Given the description of an element on the screen output the (x, y) to click on. 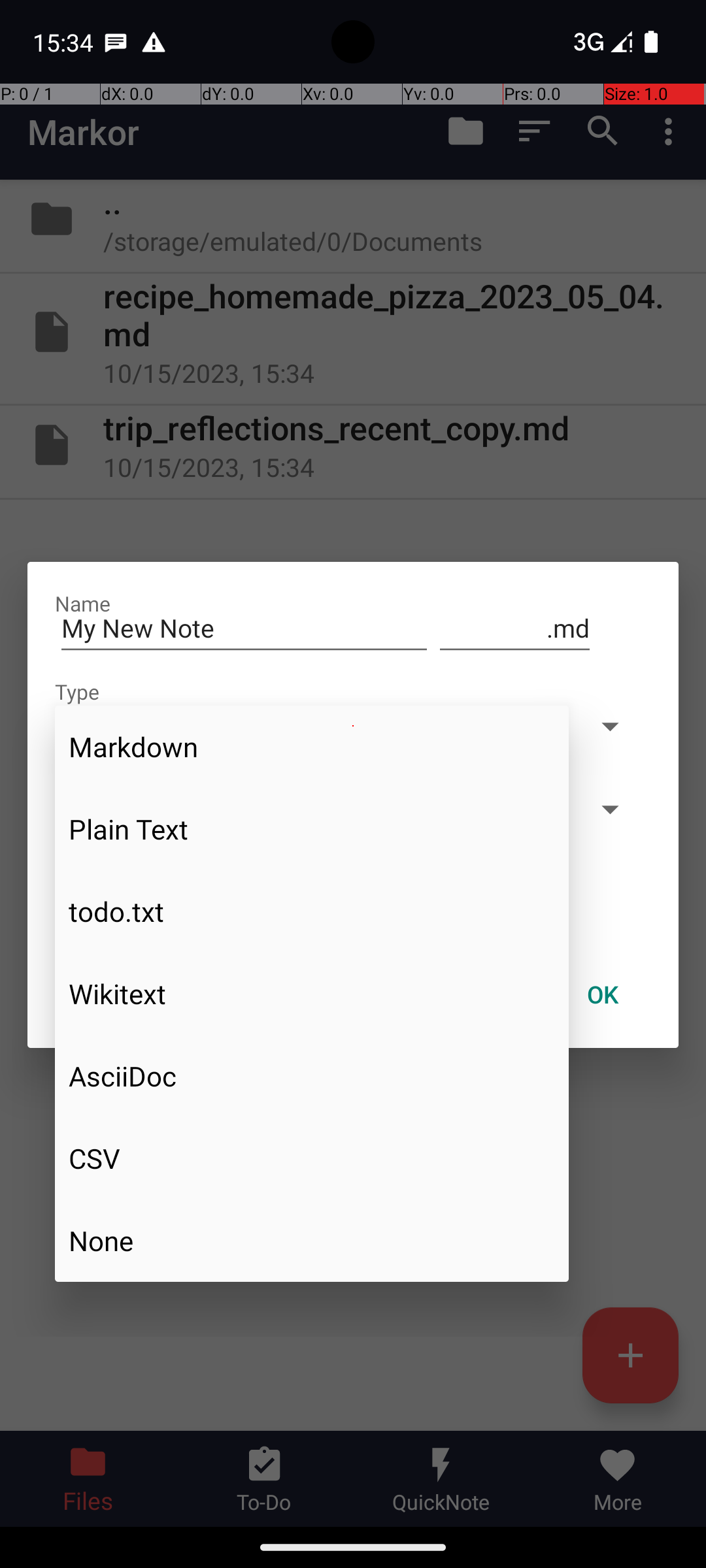
Markdown Element type: android.widget.TextView (311, 746)
Plain Text Element type: android.widget.TextView (311, 828)
todo.txt Element type: android.widget.TextView (311, 911)
Wikitext Element type: android.widget.TextView (311, 993)
AsciiDoc Element type: android.widget.TextView (311, 1075)
CSV Element type: android.widget.TextView (311, 1158)
None Element type: android.widget.TextView (311, 1240)
